Given the description of an element on the screen output the (x, y) to click on. 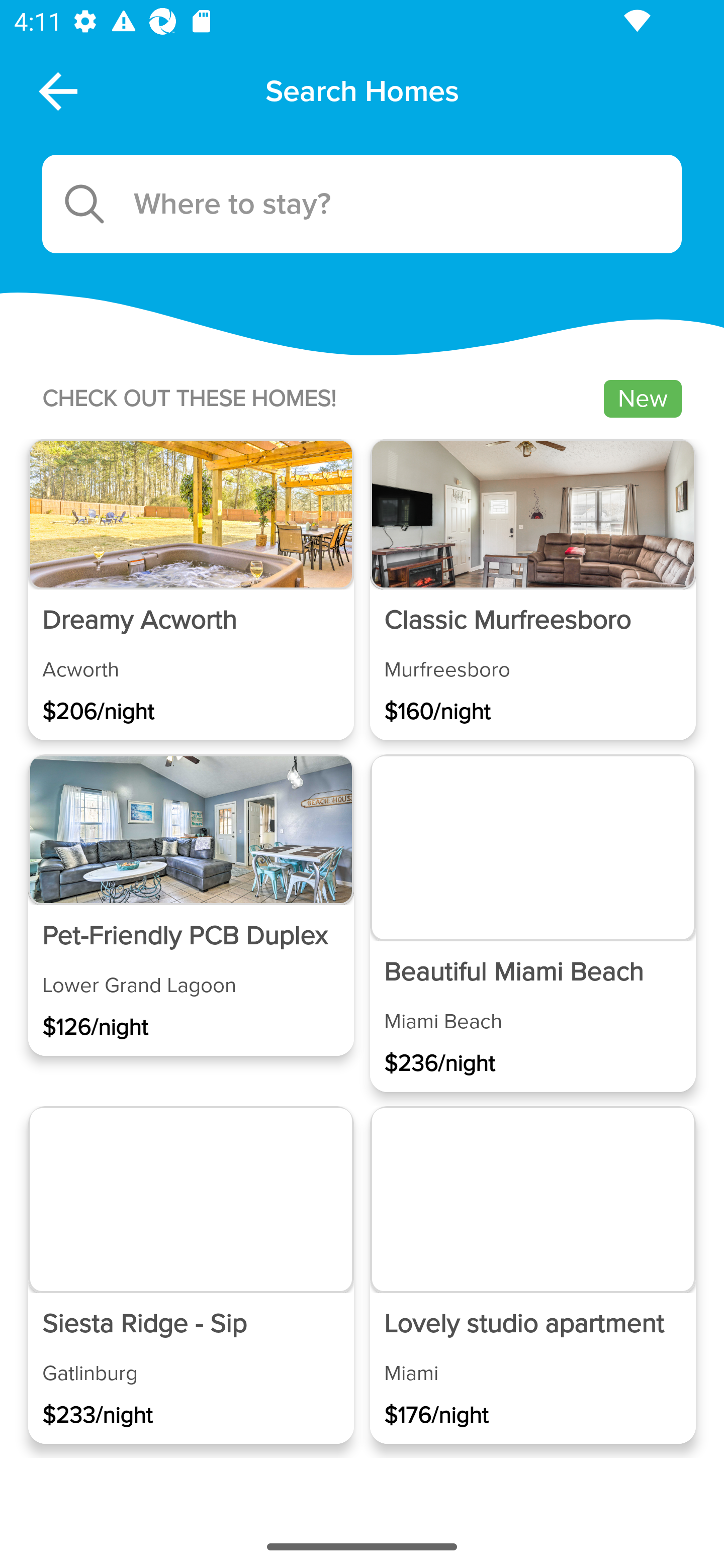
Icon close screen (55, 90)
Search icon Where to stay? (361, 204)
